Given the description of an element on the screen output the (x, y) to click on. 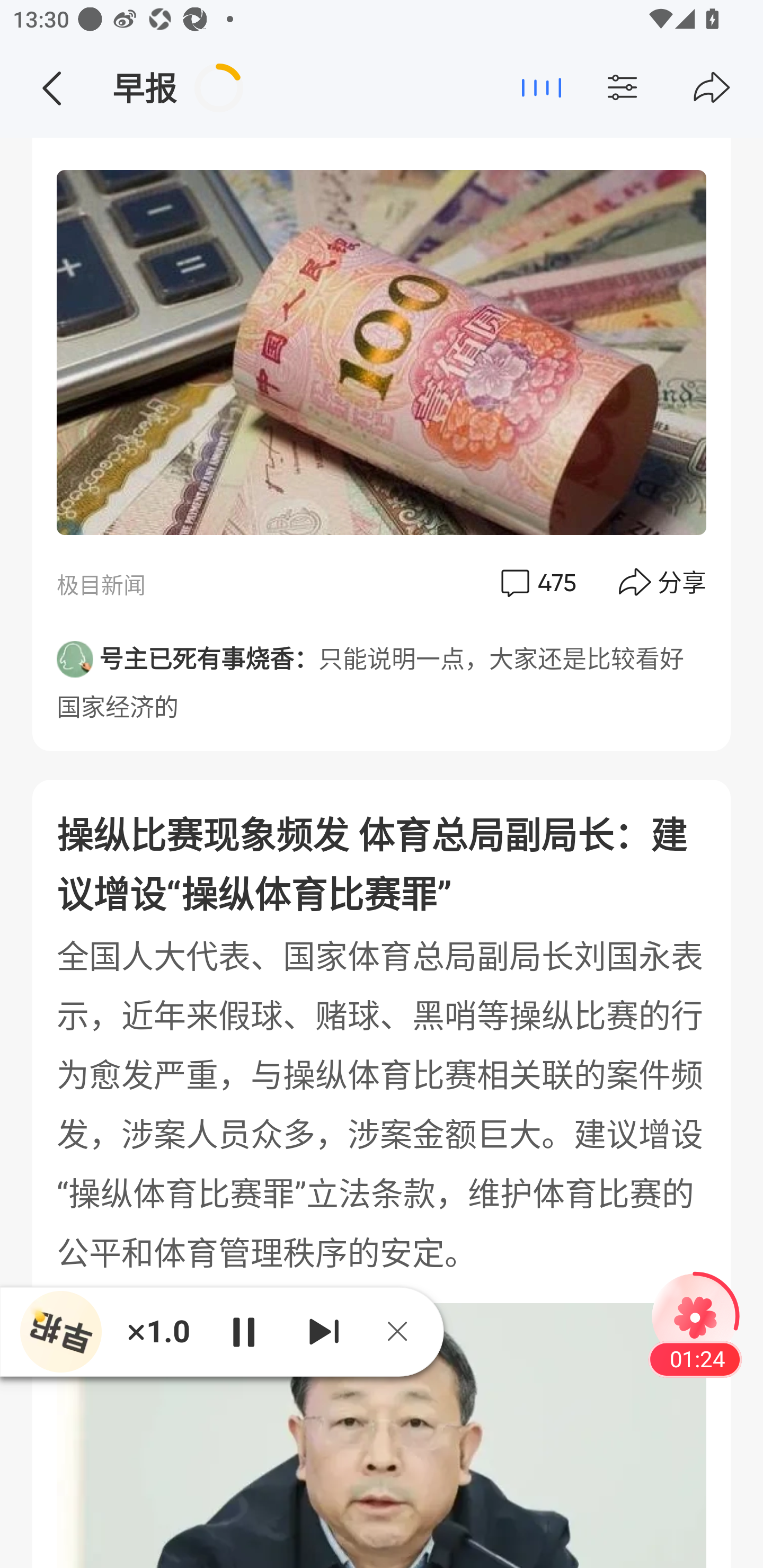
 (50, 87)
 (656, 87)
 (711, 87)
评论  475 (536, 582)
 分享 (663, 582)
  号主已死有事烧香：只能说明一点，大家还是比较看好国家经济的 (381, 676)
 播放 (242, 1330)
 下一个 (323, 1330)
 关闭 (404, 1330)
播放器 (60, 1330)
 1.0 (157, 1330)
